Given the description of an element on the screen output the (x, y) to click on. 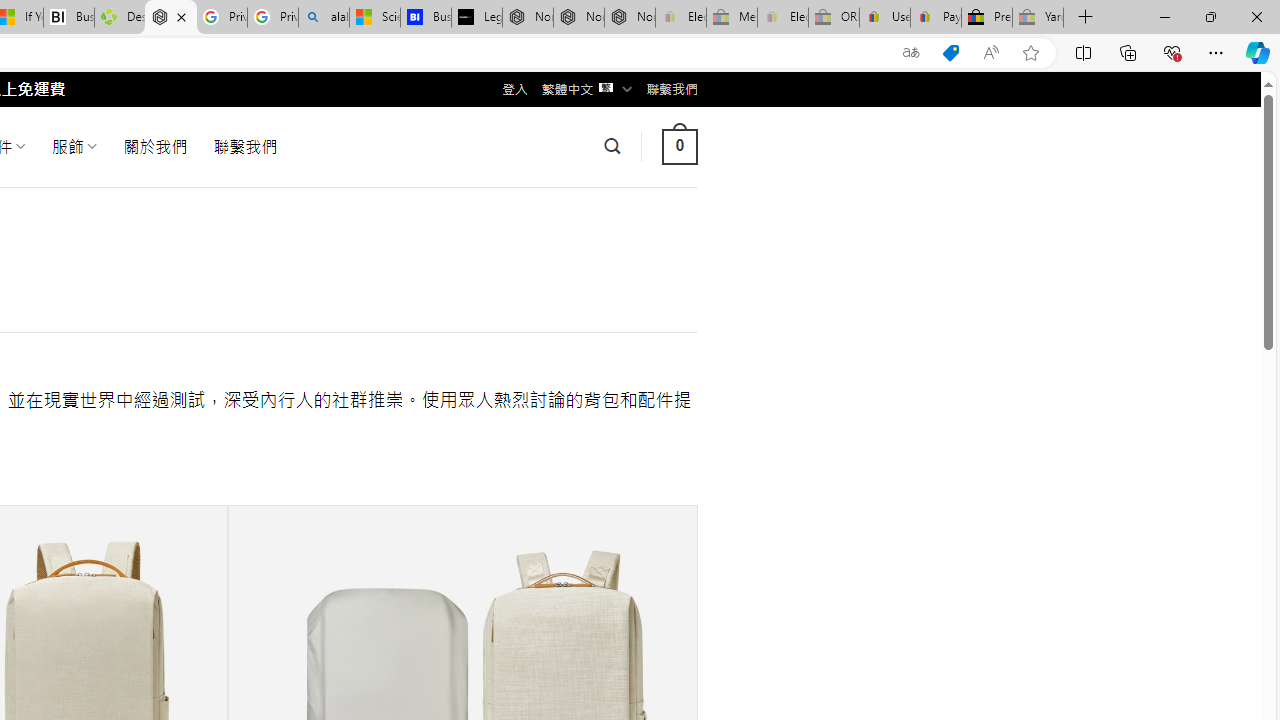
Settings and more (Alt+F) (1215, 52)
New Tab (1085, 17)
Split screen (1083, 52)
Browser essentials (1171, 52)
Close tab (180, 16)
